Given the description of an element on the screen output the (x, y) to click on. 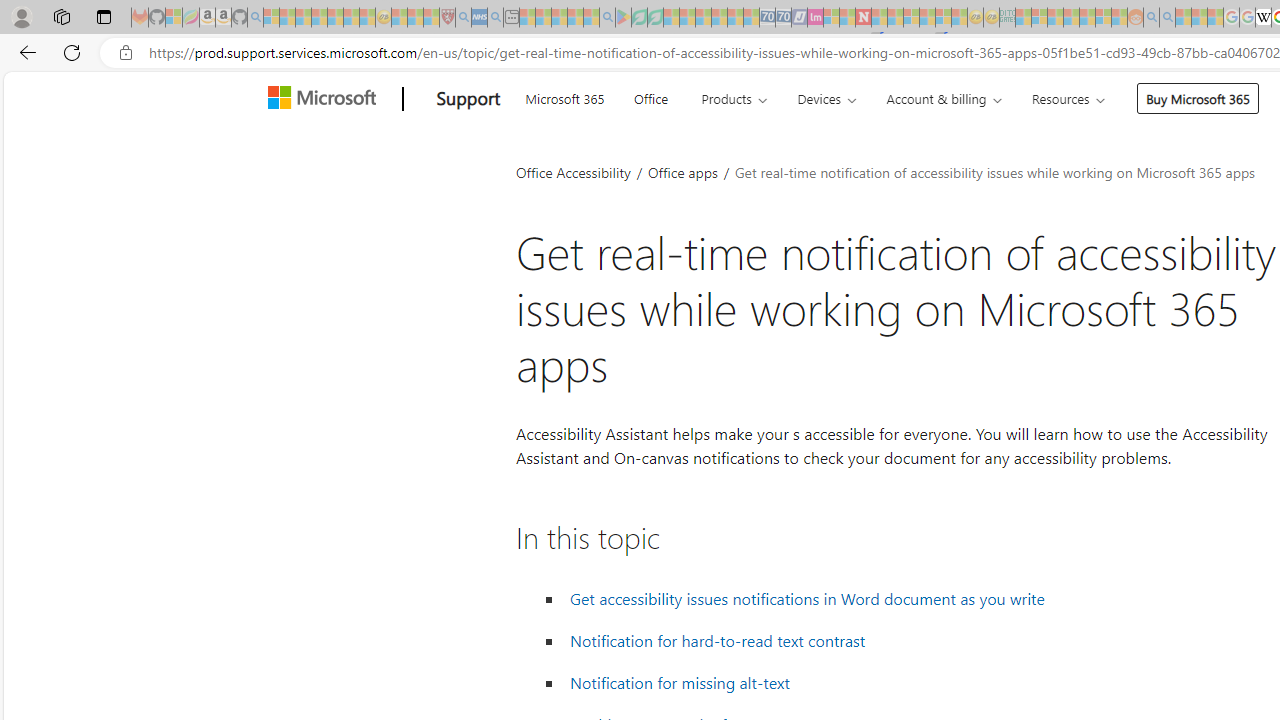
Target page - Wikipedia (1263, 17)
Office (650, 96)
utah sues federal government - Search - Sleeping (495, 17)
 Notification for missing alt-text (679, 682)
